Given the description of an element on the screen output the (x, y) to click on. 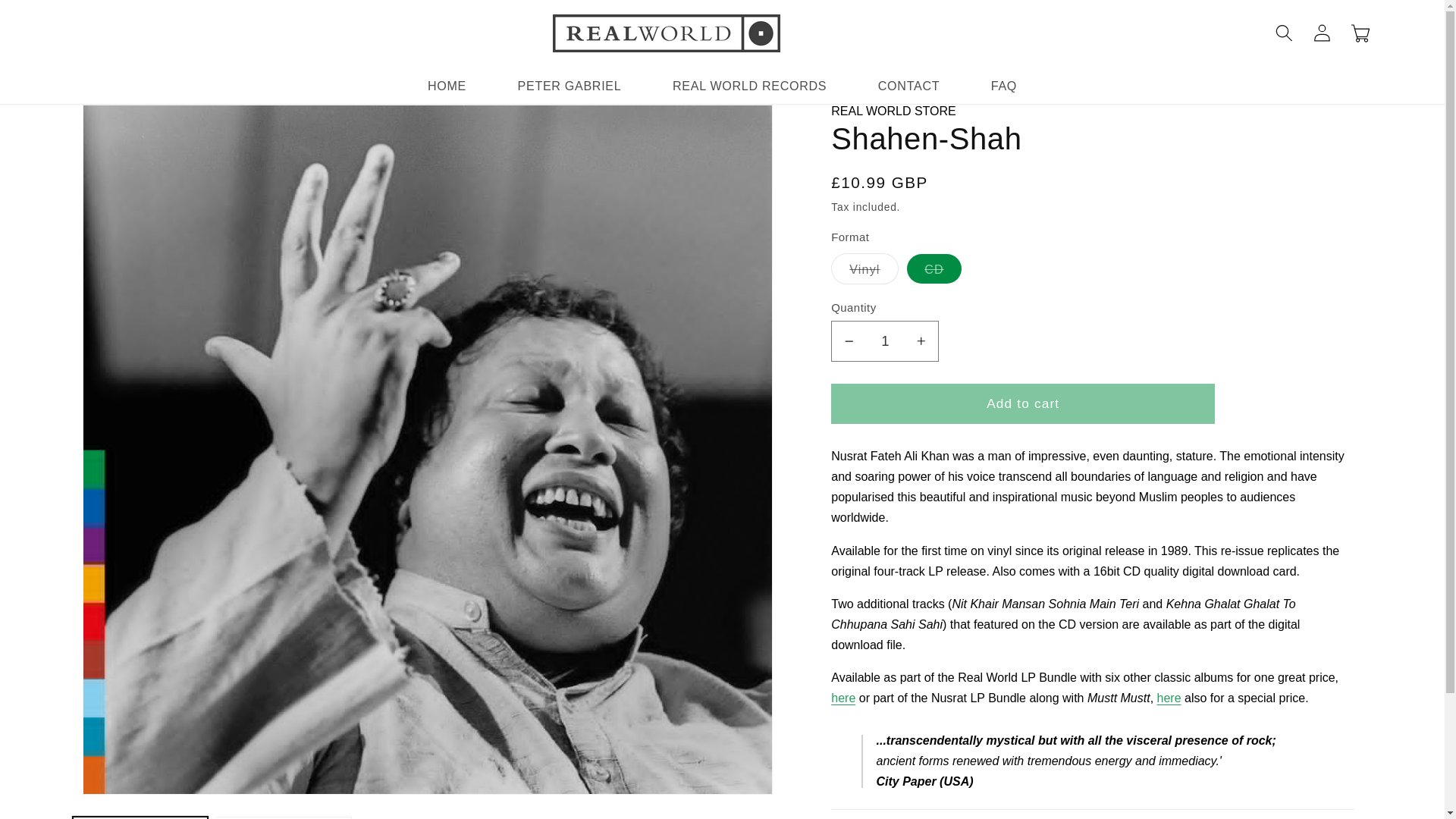
REAL WORLD RECORDS (749, 85)
CONTACT (908, 85)
1 (885, 341)
Cart (1360, 32)
HOME (446, 85)
Log in (1321, 32)
FAQ (1003, 85)
Skip to product information (119, 124)
